Given the description of an element on the screen output the (x, y) to click on. 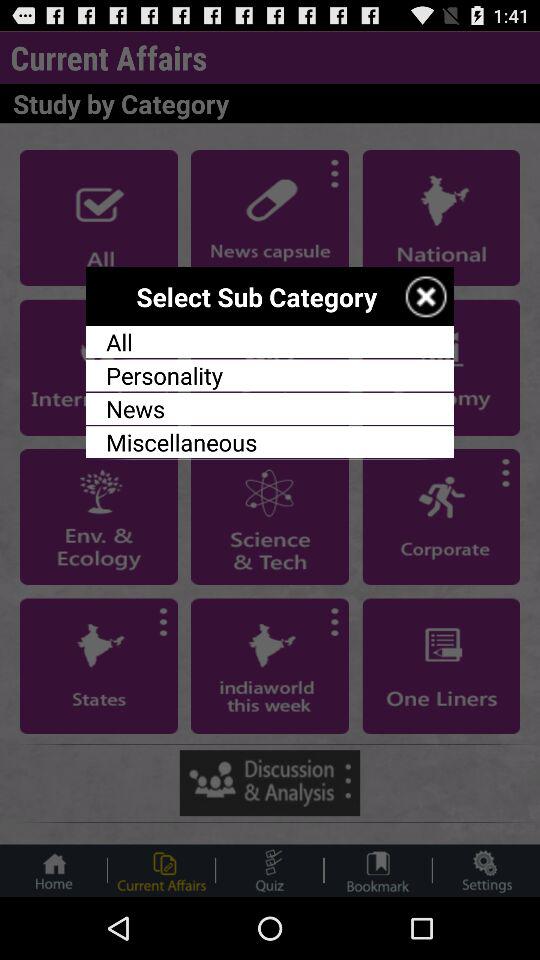
close sub category pop-up (425, 296)
